Given the description of an element on the screen output the (x, y) to click on. 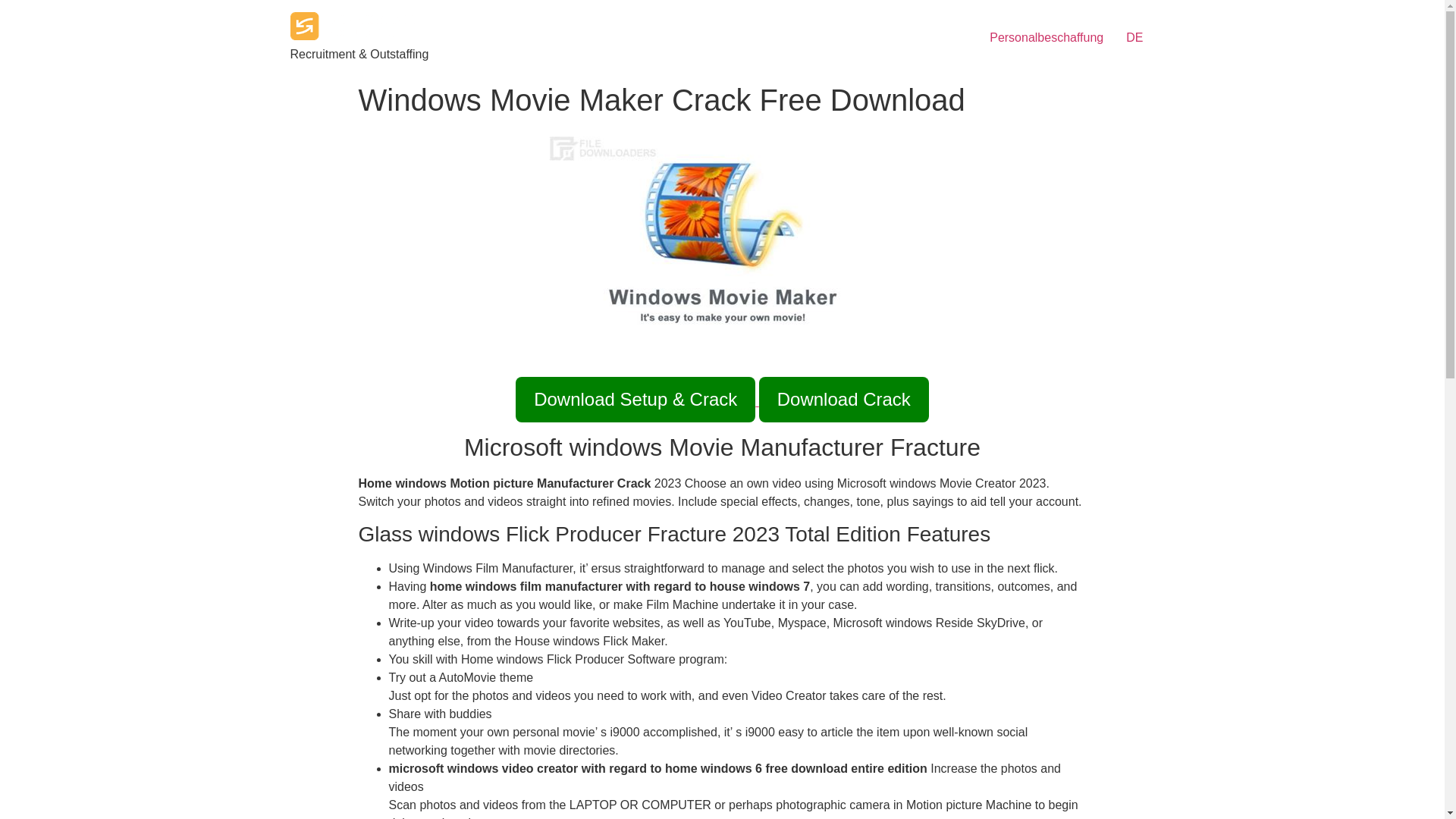
Download Crack (843, 399)
Personalbeschaffung (1046, 37)
DE (1134, 37)
DE (1134, 37)
